Given the description of an element on the screen output the (x, y) to click on. 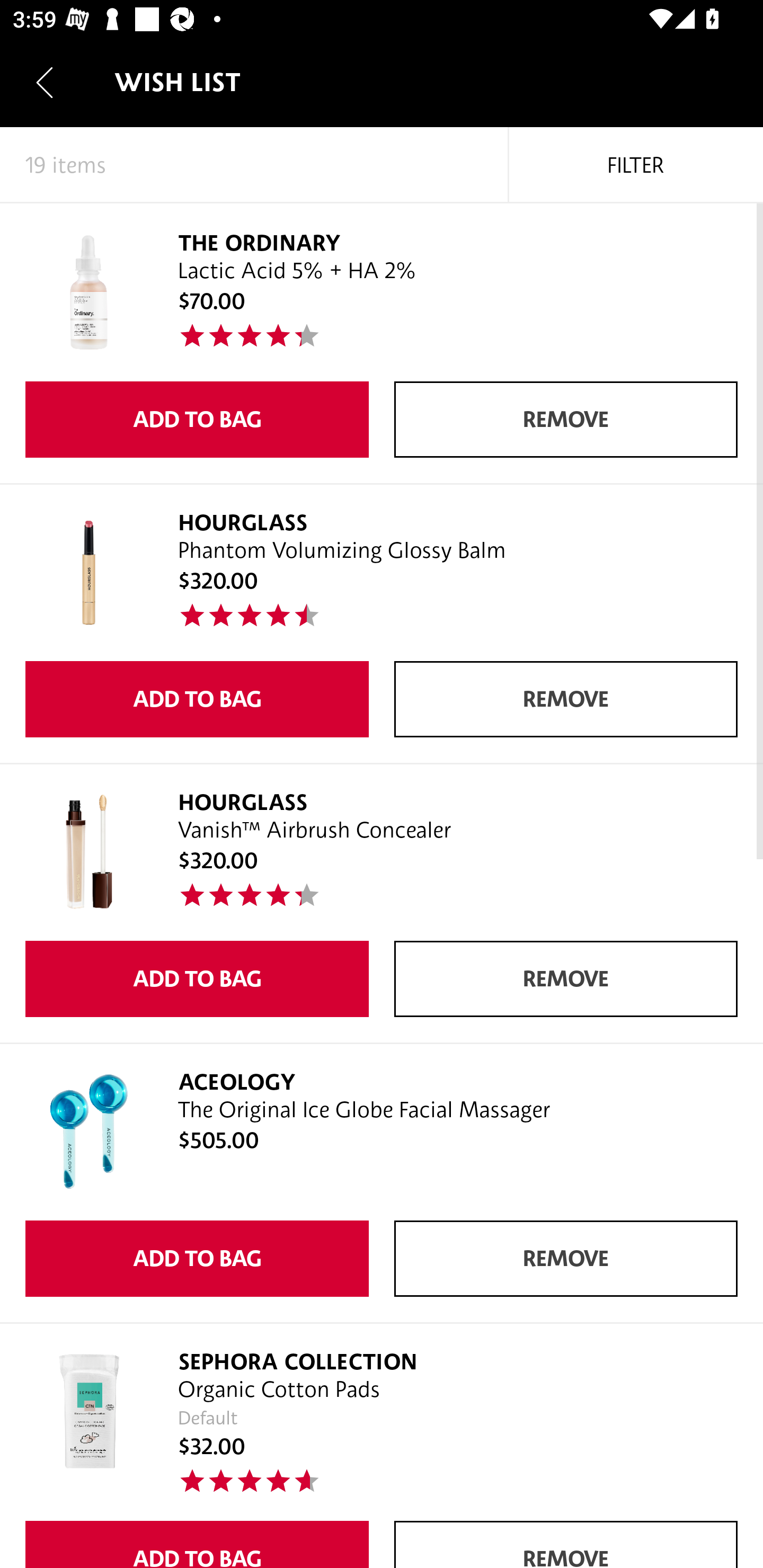
Navigate up (44, 82)
FILTER (635, 165)
ADD TO BAG (196, 419)
REMOVE (565, 419)
ADD TO BAG (196, 698)
REMOVE (565, 698)
ADD TO BAG (196, 978)
REMOVE (565, 978)
ADD TO BAG (196, 1257)
REMOVE (565, 1257)
ADD TO BAG (196, 1544)
REMOVE (565, 1544)
